Given the description of an element on the screen output the (x, y) to click on. 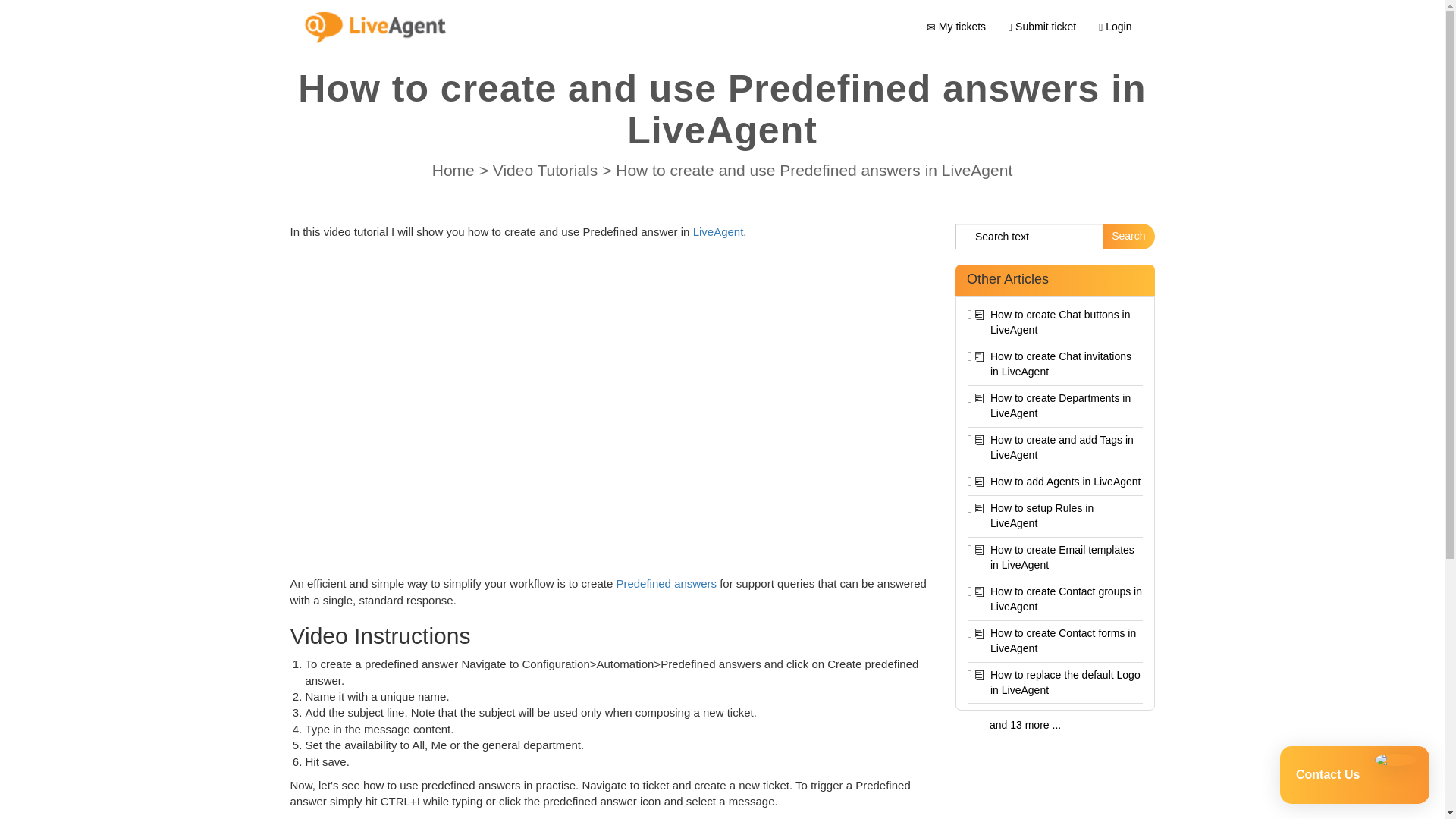
LiveAgent (718, 231)
How to create Chat buttons in LiveAgent (1059, 321)
Search text (1029, 236)
My tickets (956, 26)
How to create Contact groups in LiveAgent (1065, 598)
Search (1128, 236)
How to create Contact groups in LiveAgent (1065, 598)
How to create Email templates in LiveAgent (1062, 556)
How to create and add Tags in LiveAgent (1062, 447)
Video Tutorials (547, 170)
How to replace the default Logo in LiveAgent (1065, 682)
Search (1128, 236)
How to create Email templates in LiveAgent (1062, 556)
How to add Agents in LiveAgent (1065, 481)
Home (455, 170)
